Given the description of an element on the screen output the (x, y) to click on. 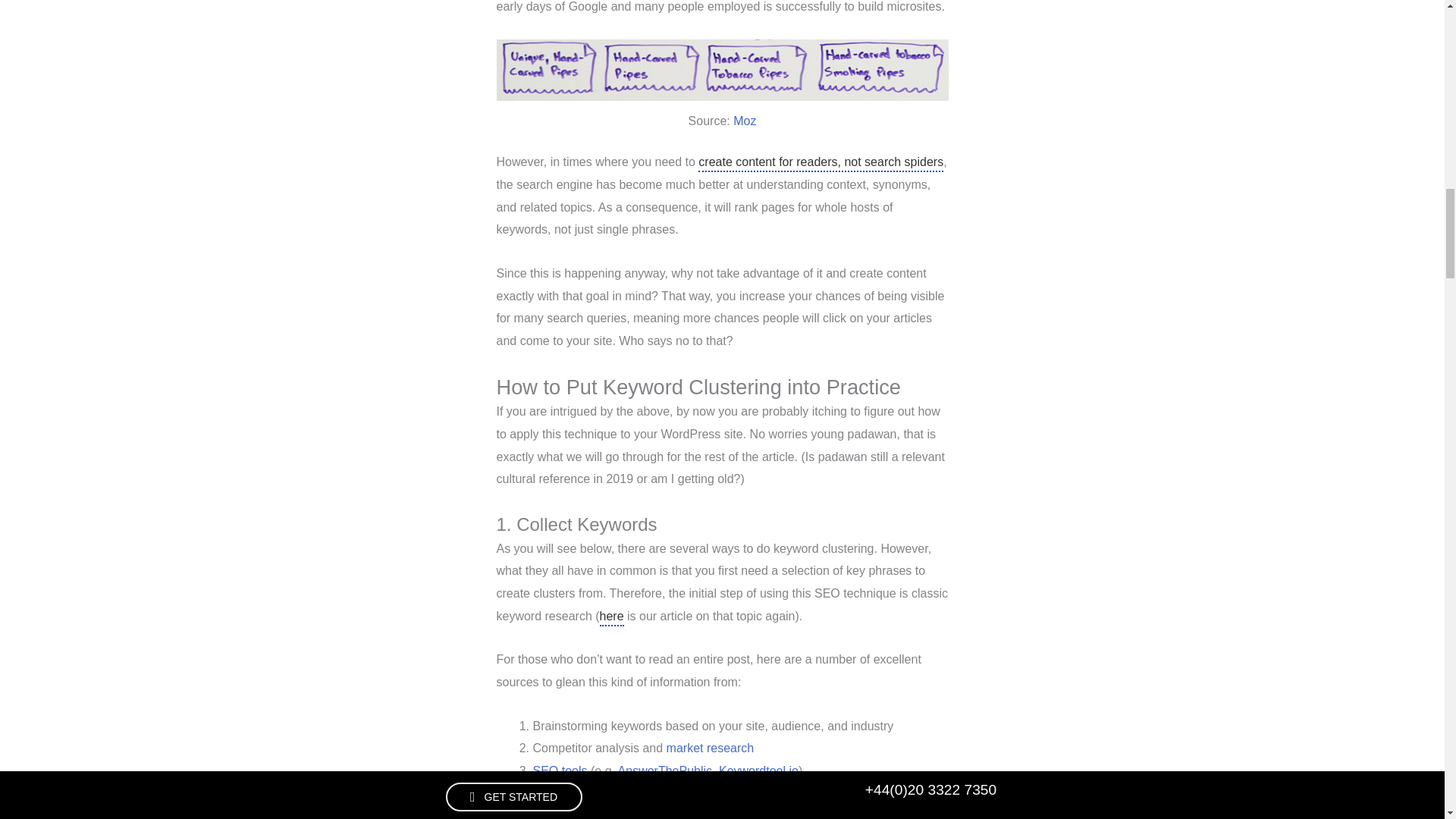
here (611, 617)
create content for readers, not search spiders (820, 163)
SEO tools (559, 770)
Keywordtool.io (758, 770)
AnswerThePublic (665, 770)
market research (710, 748)
Google Analytics (810, 793)
Moz (744, 120)
